Given the description of an element on the screen output the (x, y) to click on. 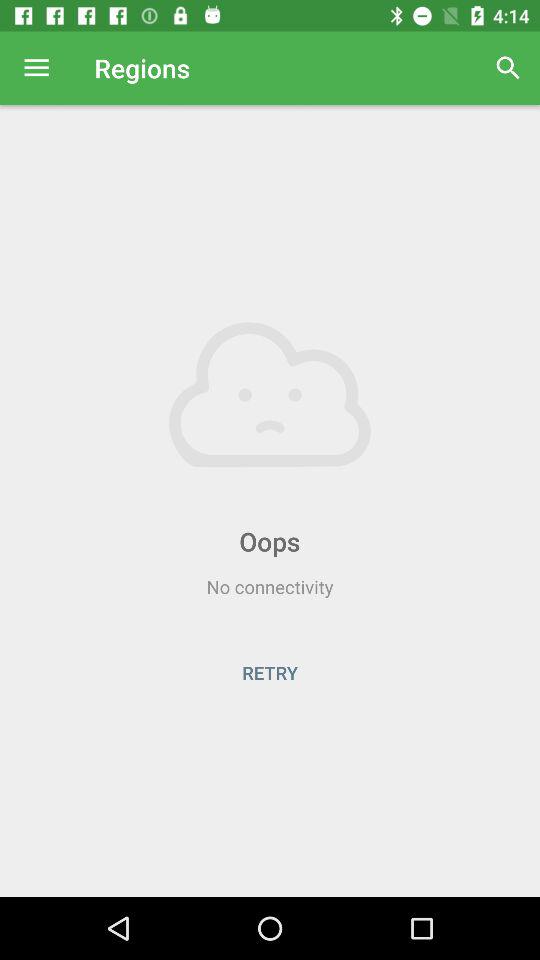
click item at the top right corner (508, 67)
